Given the description of an element on the screen output the (x, y) to click on. 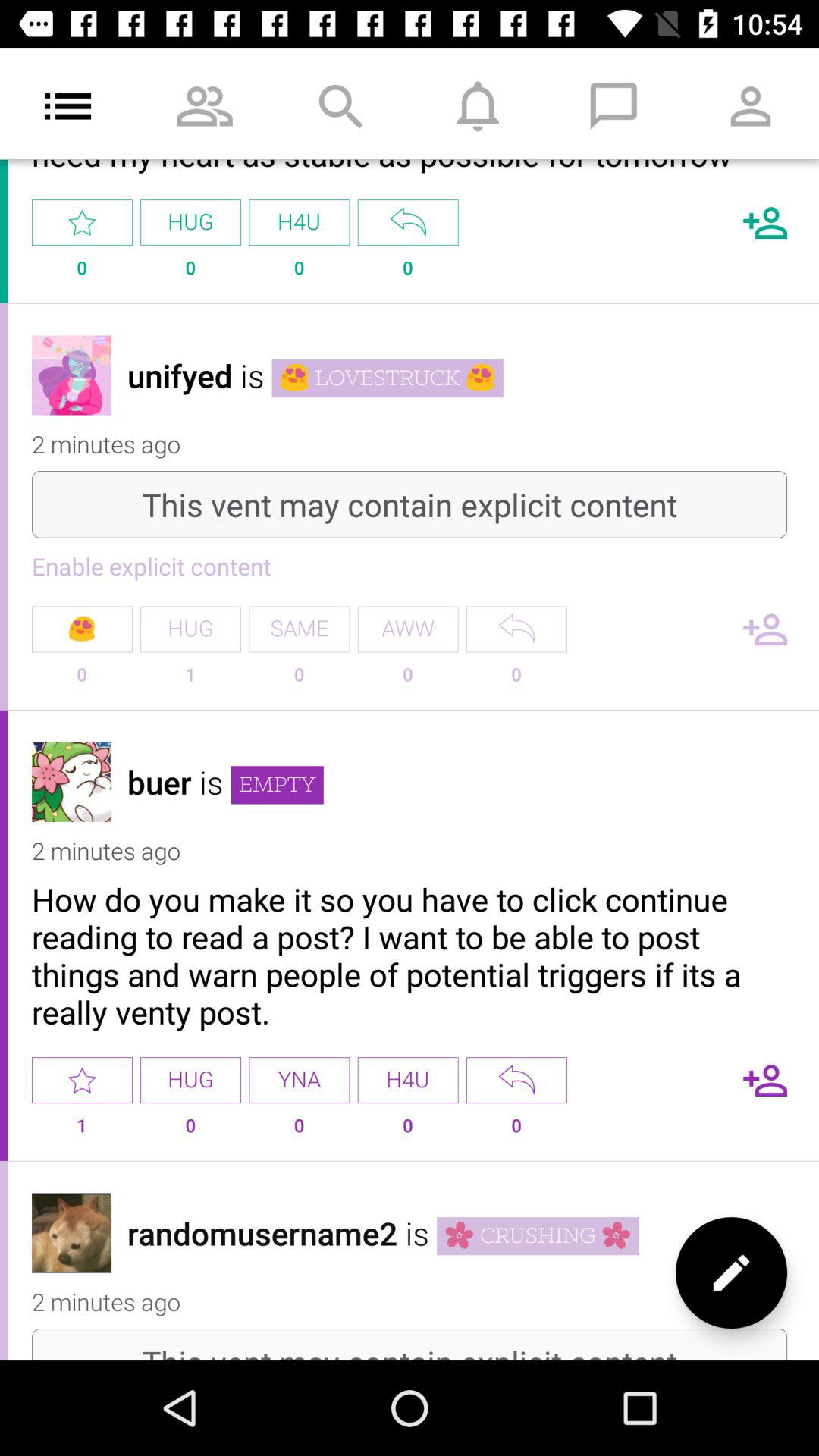
profile photo (71, 781)
